Given the description of an element on the screen output the (x, y) to click on. 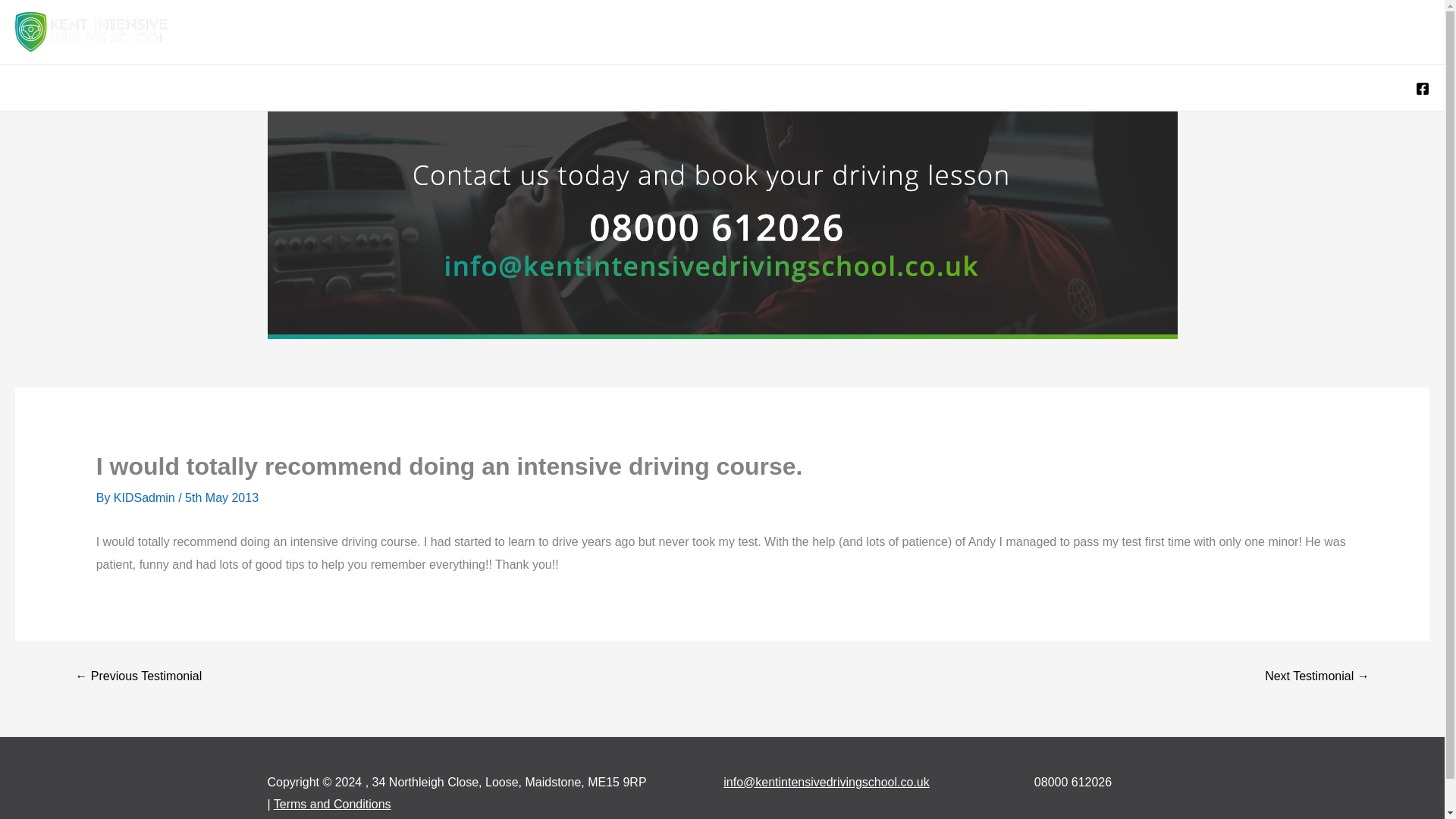
Home (588, 31)
Congratulations Ethan! (133, 225)
Contact Us (1387, 31)
About Us (1308, 31)
Testimonials (1225, 31)
Tests (1024, 31)
Instructor Training (1118, 31)
Areas Covered (676, 31)
